Given the description of an element on the screen output the (x, y) to click on. 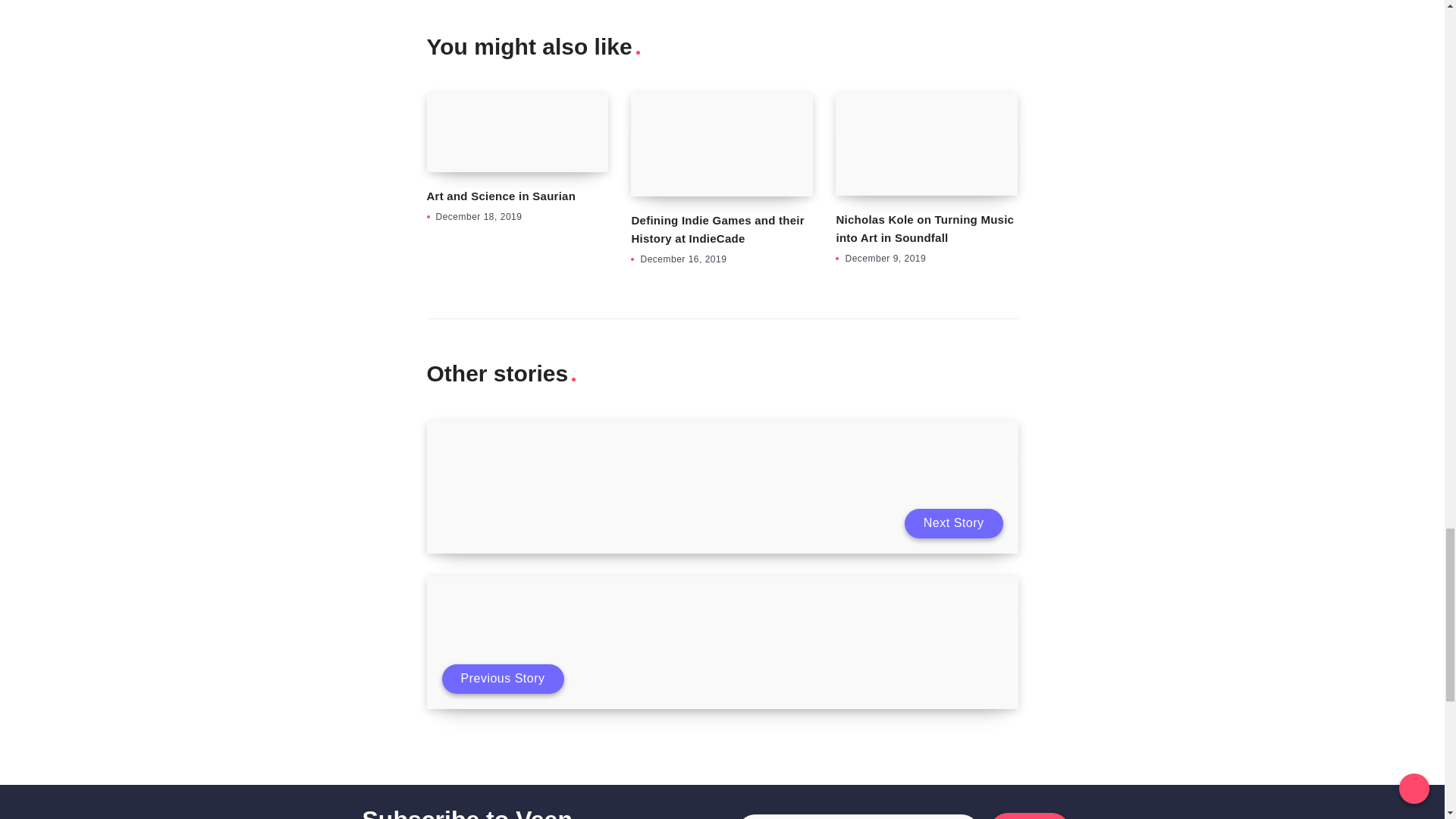
Submit (1029, 816)
Defining Indie Games and their History at IndieCade (716, 228)
Art and Science in Saurian (500, 195)
Nicholas Kole on Turning Music into Art in Soundfall (924, 228)
